Given the description of an element on the screen output the (x, y) to click on. 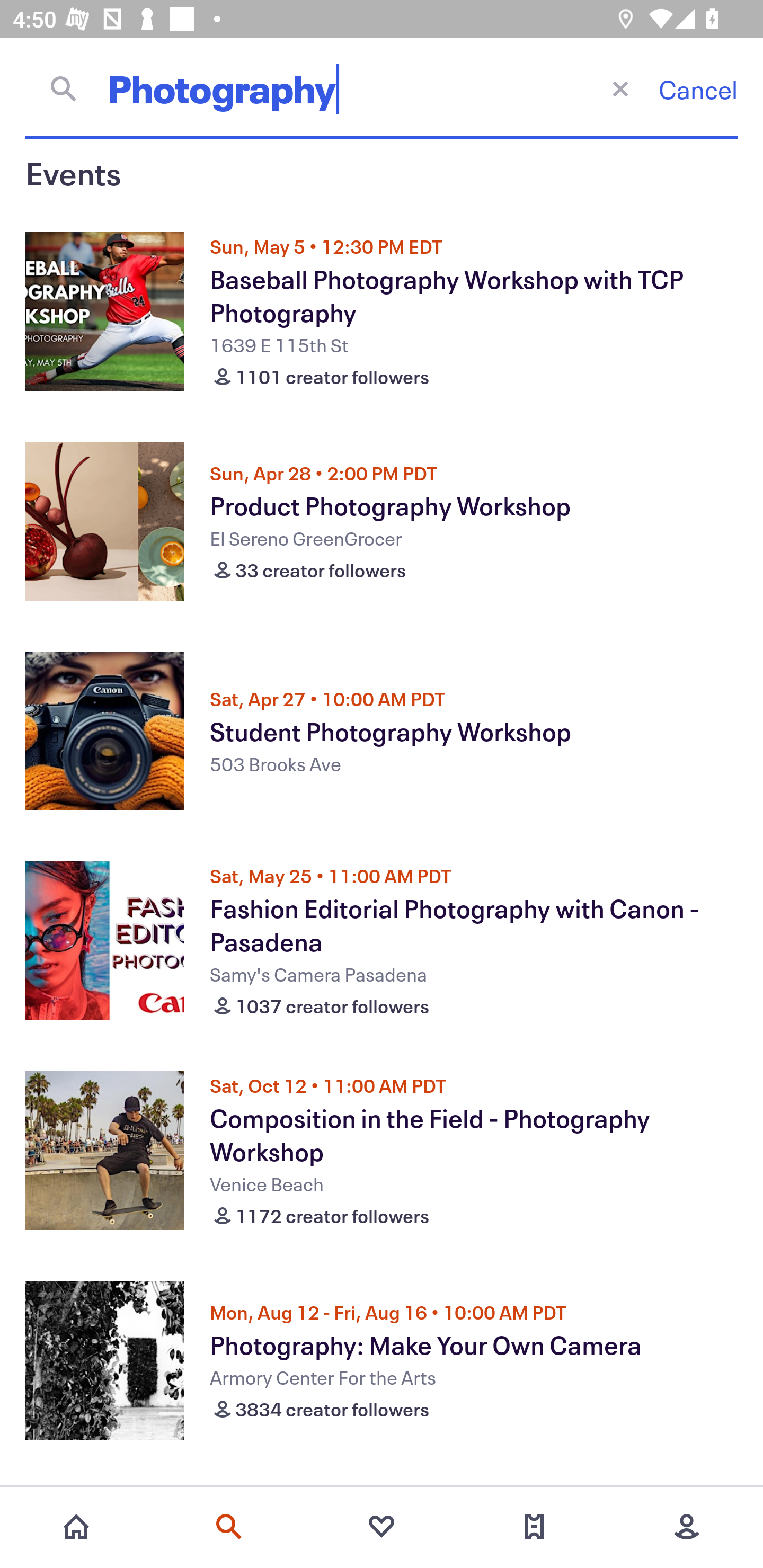
Photography Close current screen Cancel (381, 88)
Close current screen (620, 88)
Cancel (697, 89)
Home (76, 1526)
Search events (228, 1526)
Favorites (381, 1526)
Tickets (533, 1526)
More (686, 1526)
